Given the description of an element on the screen output the (x, y) to click on. 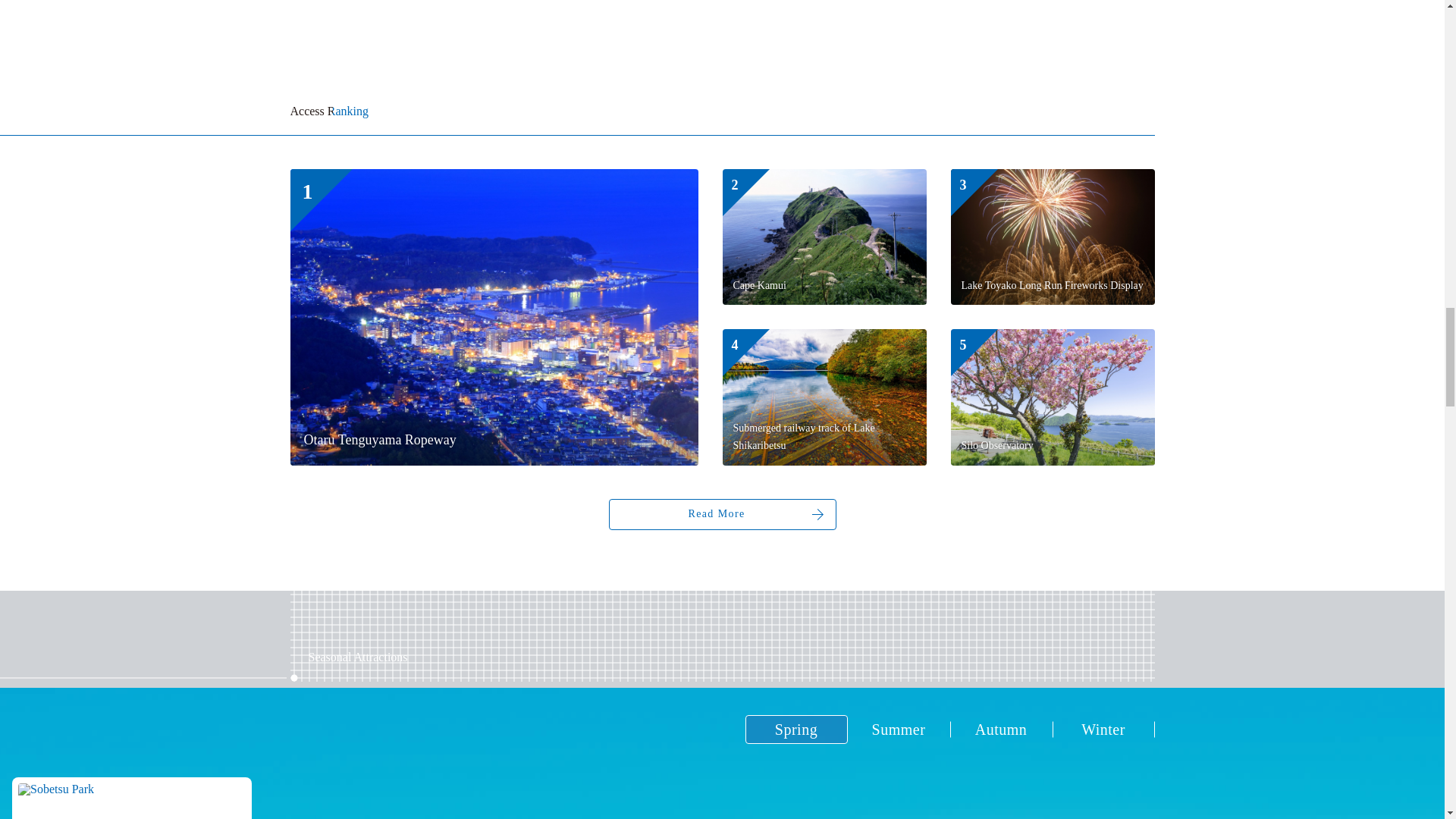
Silo Observatory (1052, 397)
Cape Kamui (824, 236)
Otaru Tenguyama Ropeway (493, 317)
Sobetsu Park (131, 798)
Submerged railway track of Lake Shikaribetsu (824, 397)
Lake Toyako Long Run Fireworks Display (1052, 236)
